Given the description of an element on the screen output the (x, y) to click on. 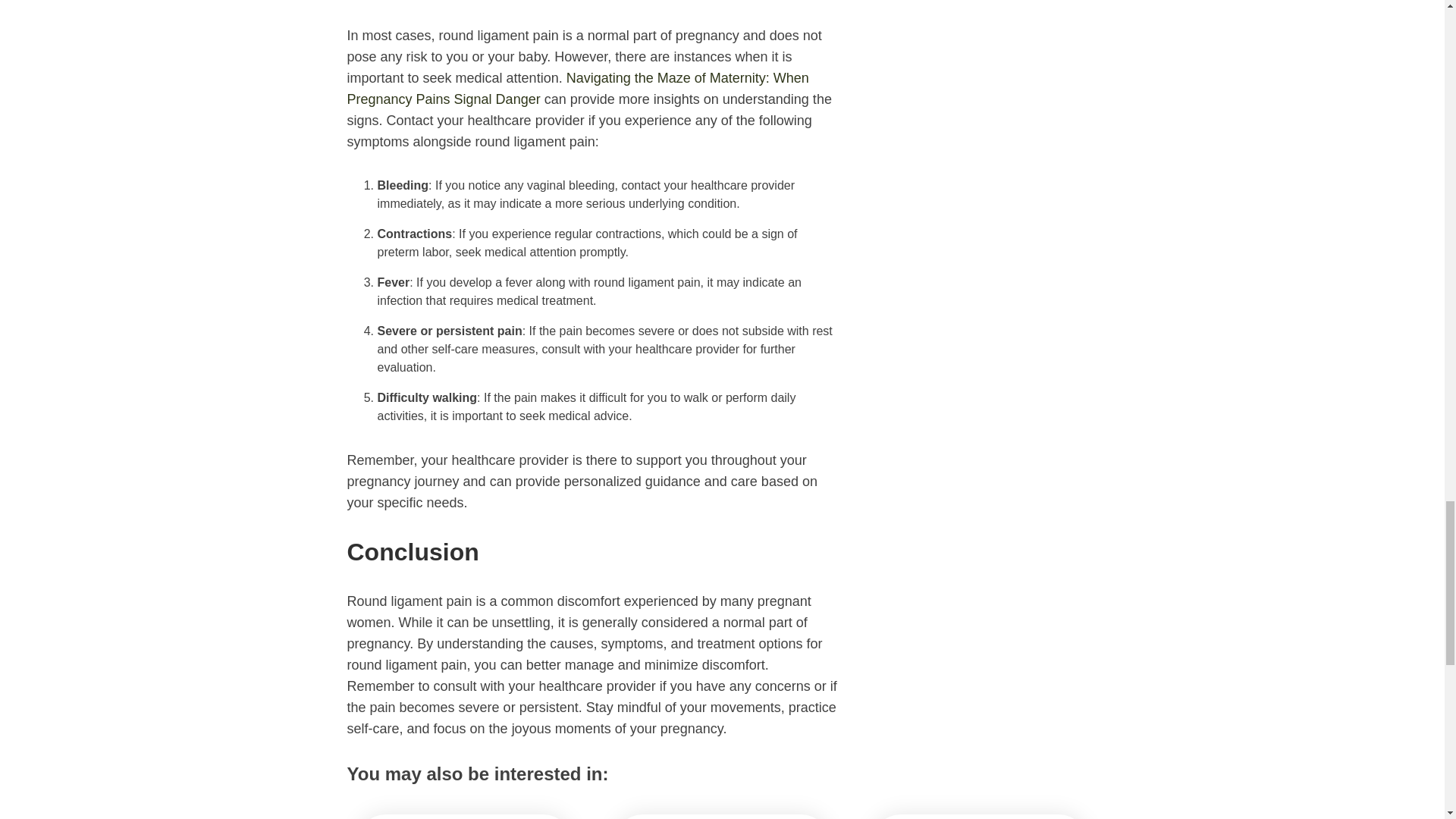
Fundal Height Chart for Twins (721, 816)
Pregnancy Due date calculator (464, 816)
